Given the description of an element on the screen output the (x, y) to click on. 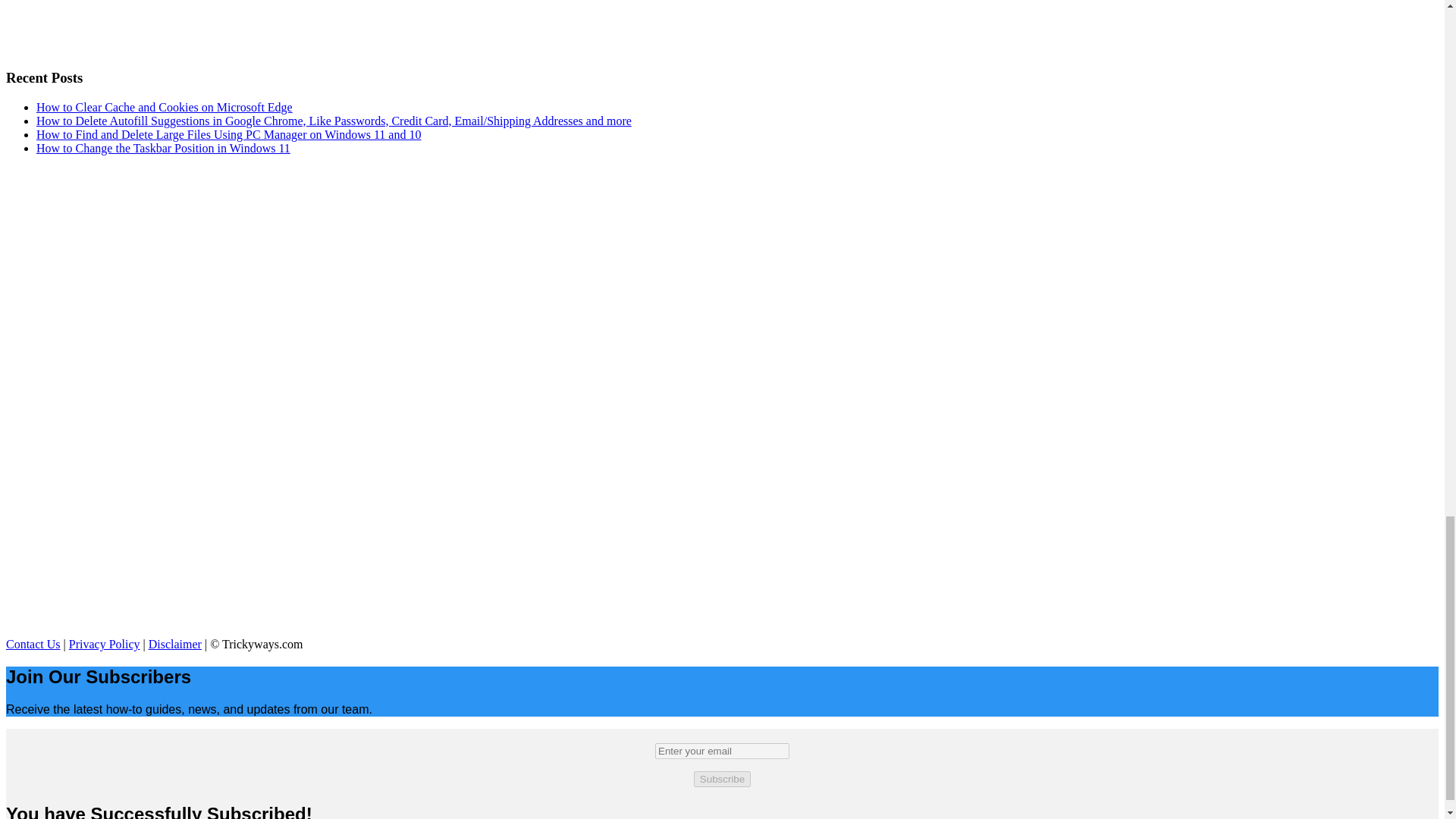
How to Change the Taskbar Position in Windows 11 (162, 147)
Subscribe (722, 779)
How to Clear Cache and Cookies on Microsoft Edge (164, 106)
